Given the description of an element on the screen output the (x, y) to click on. 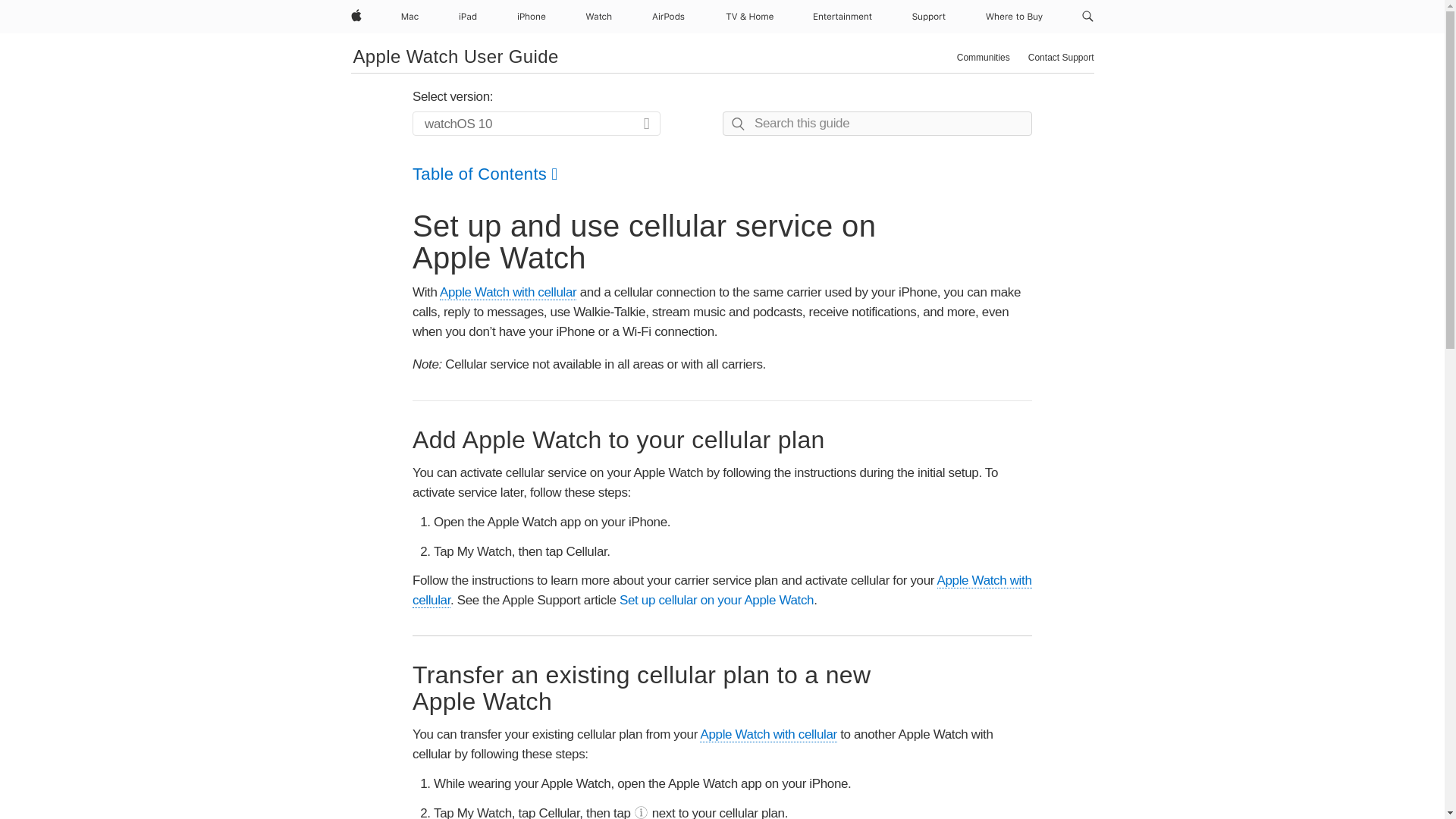
Mac (409, 16)
iPhone (531, 16)
iPad (467, 16)
Apple (354, 16)
